Given the description of an element on the screen output the (x, y) to click on. 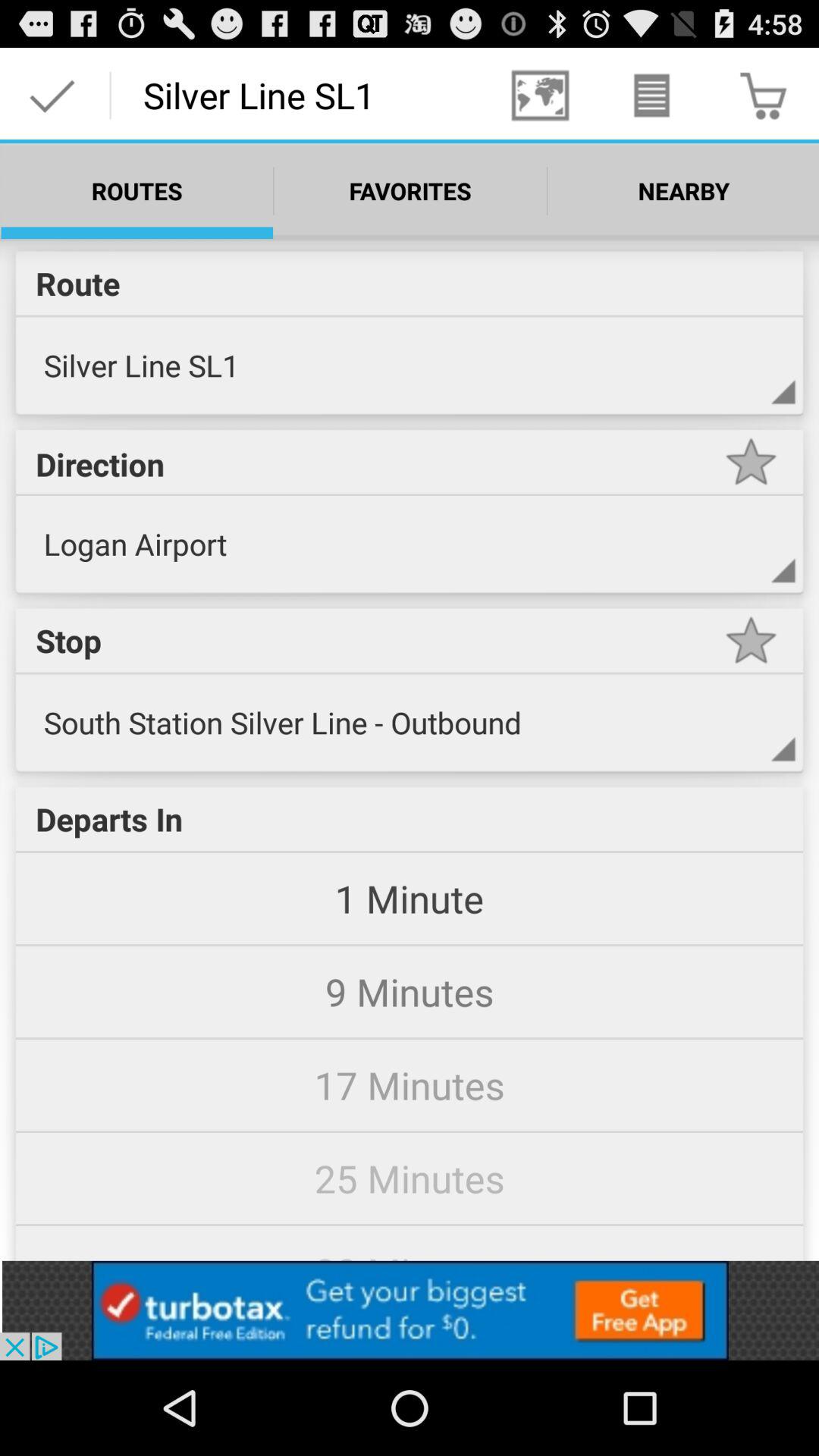
turbotax advertisement (409, 1310)
